Given the description of an element on the screen output the (x, y) to click on. 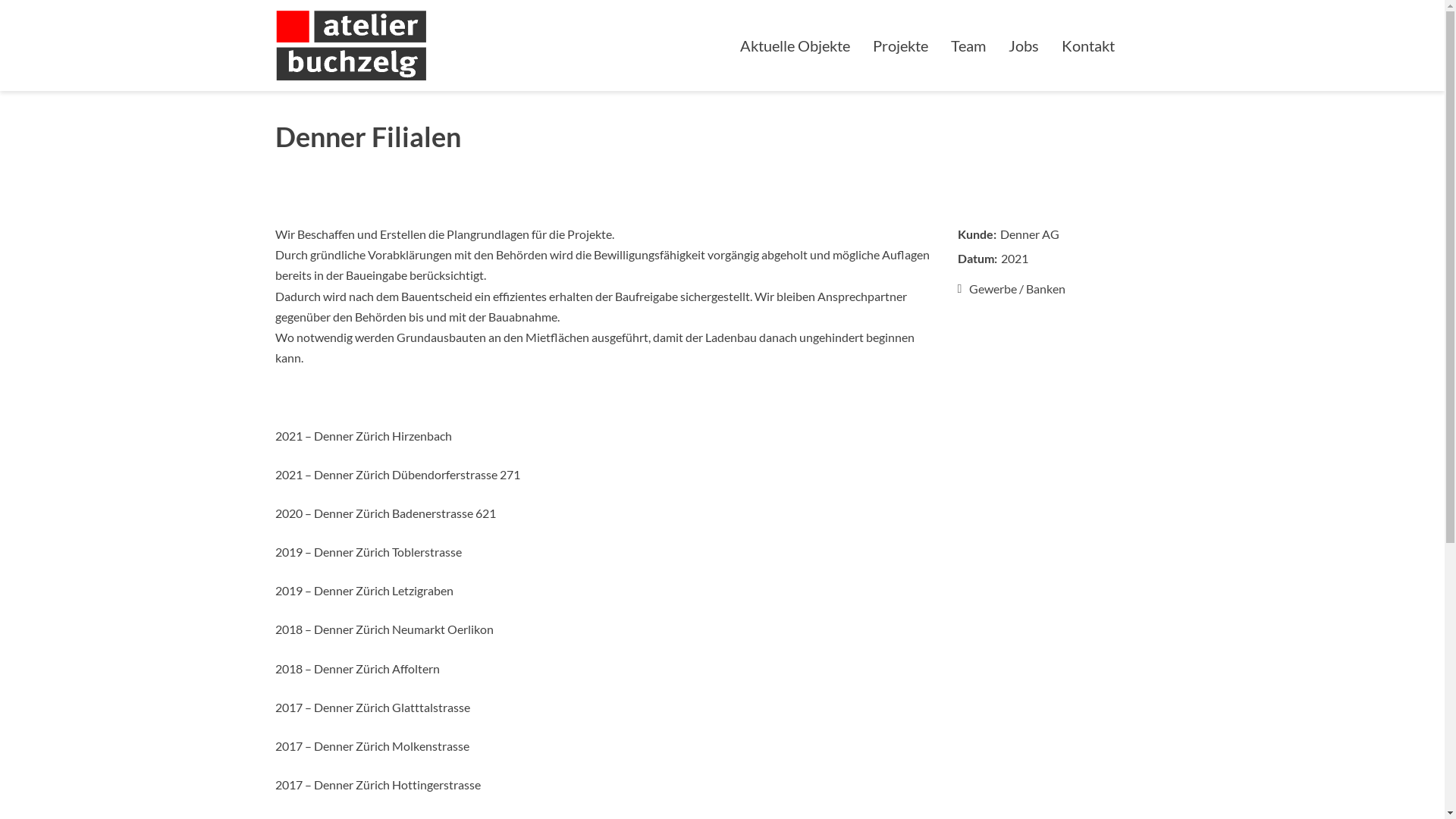
Gewerbe / Banken Element type: text (1063, 288)
Team Element type: text (967, 45)
Kontakt Element type: text (1087, 45)
Jobs Element type: text (1022, 45)
Aktuelle Objekte Element type: text (794, 45)
Projekte Element type: text (900, 45)
